Given the description of an element on the screen output the (x, y) to click on. 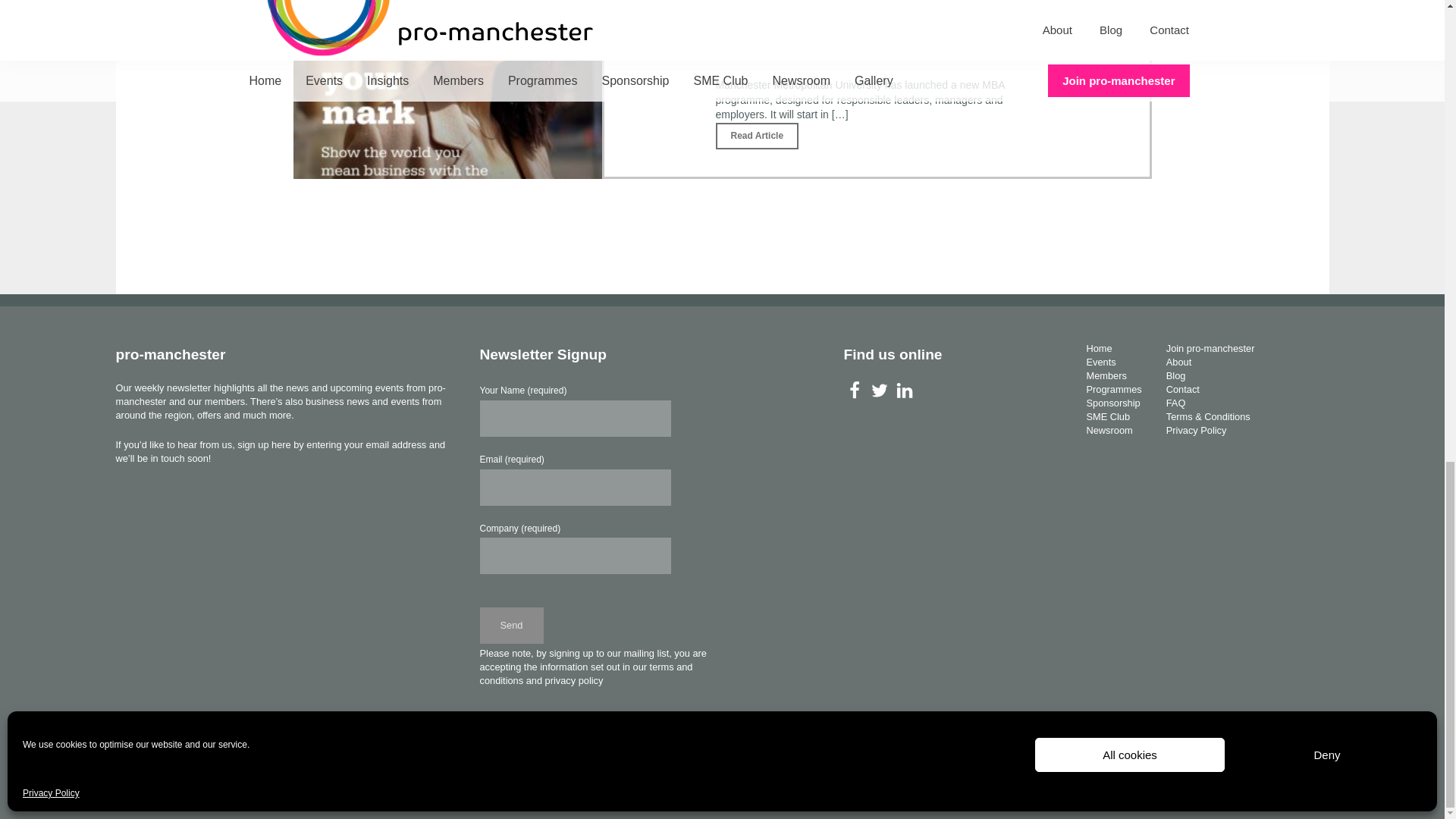
Home (1099, 348)
Twitter (878, 390)
Events (1100, 361)
LinkedIn (904, 390)
Facebook (853, 390)
Read Article (757, 135)
Send (511, 625)
Send (511, 625)
terms and conditions (586, 673)
privacy policy (574, 680)
